Given the description of an element on the screen output the (x, y) to click on. 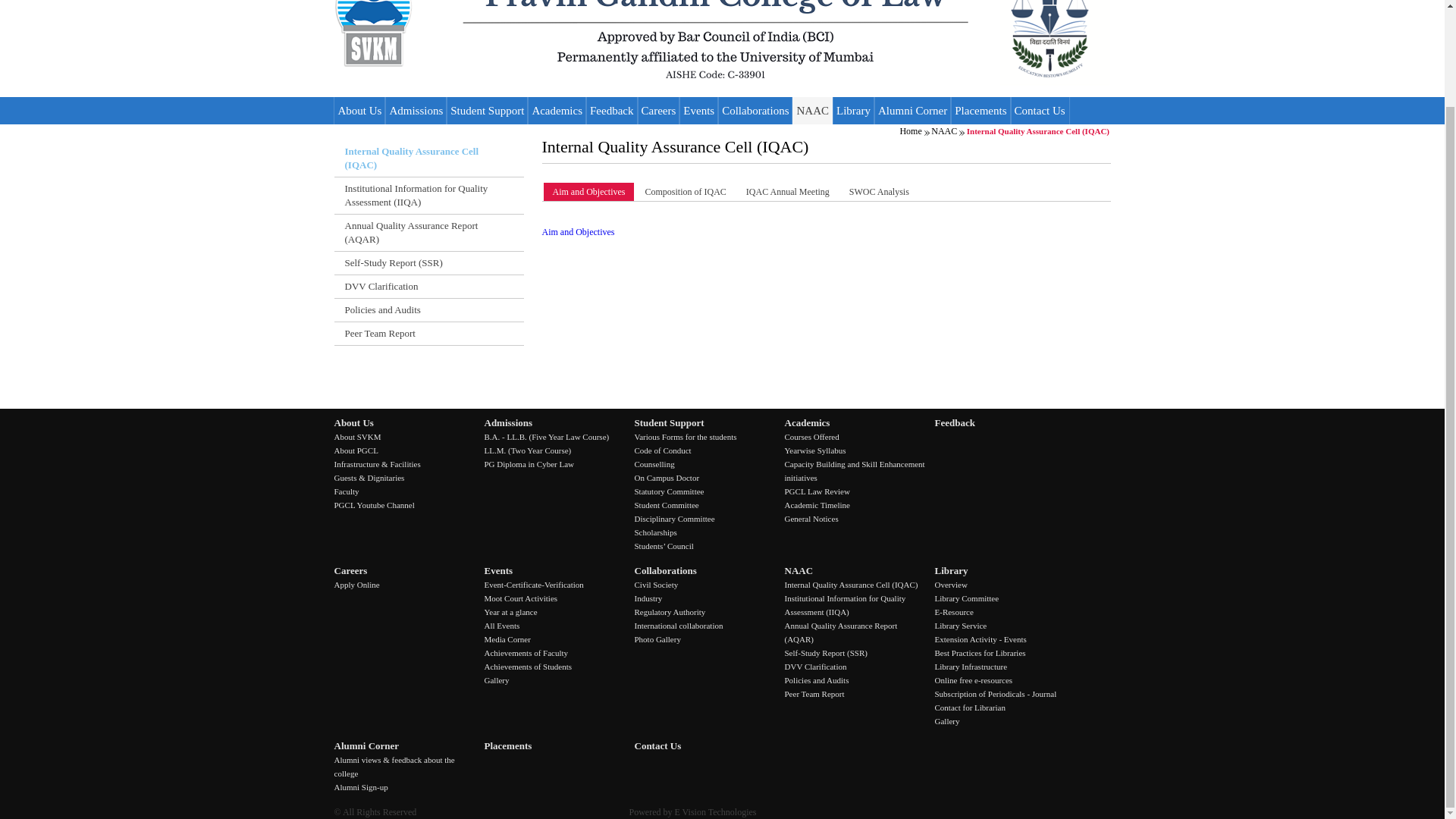
PGCL Home Page (652, 42)
Student Support (486, 110)
Home (1053, 44)
Admissions (415, 110)
About Us (359, 110)
